Given the description of an element on the screen output the (x, y) to click on. 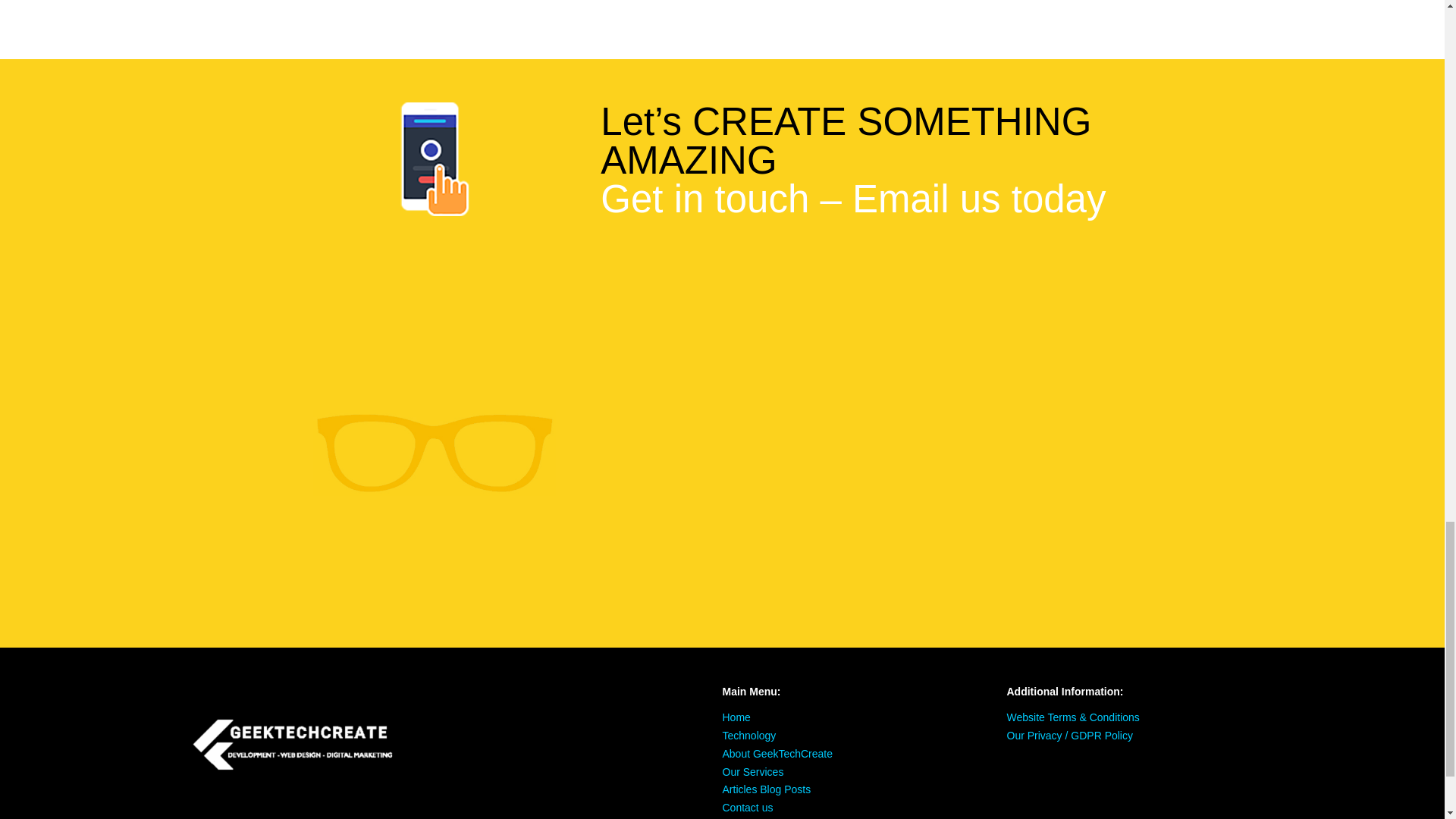
Technology (749, 735)
Articles Blog Posts (766, 788)
About GeekTechCreate (777, 753)
logo-white (295, 743)
Home (735, 717)
Our Services (752, 771)
Contact us (747, 807)
